Given the description of an element on the screen output the (x, y) to click on. 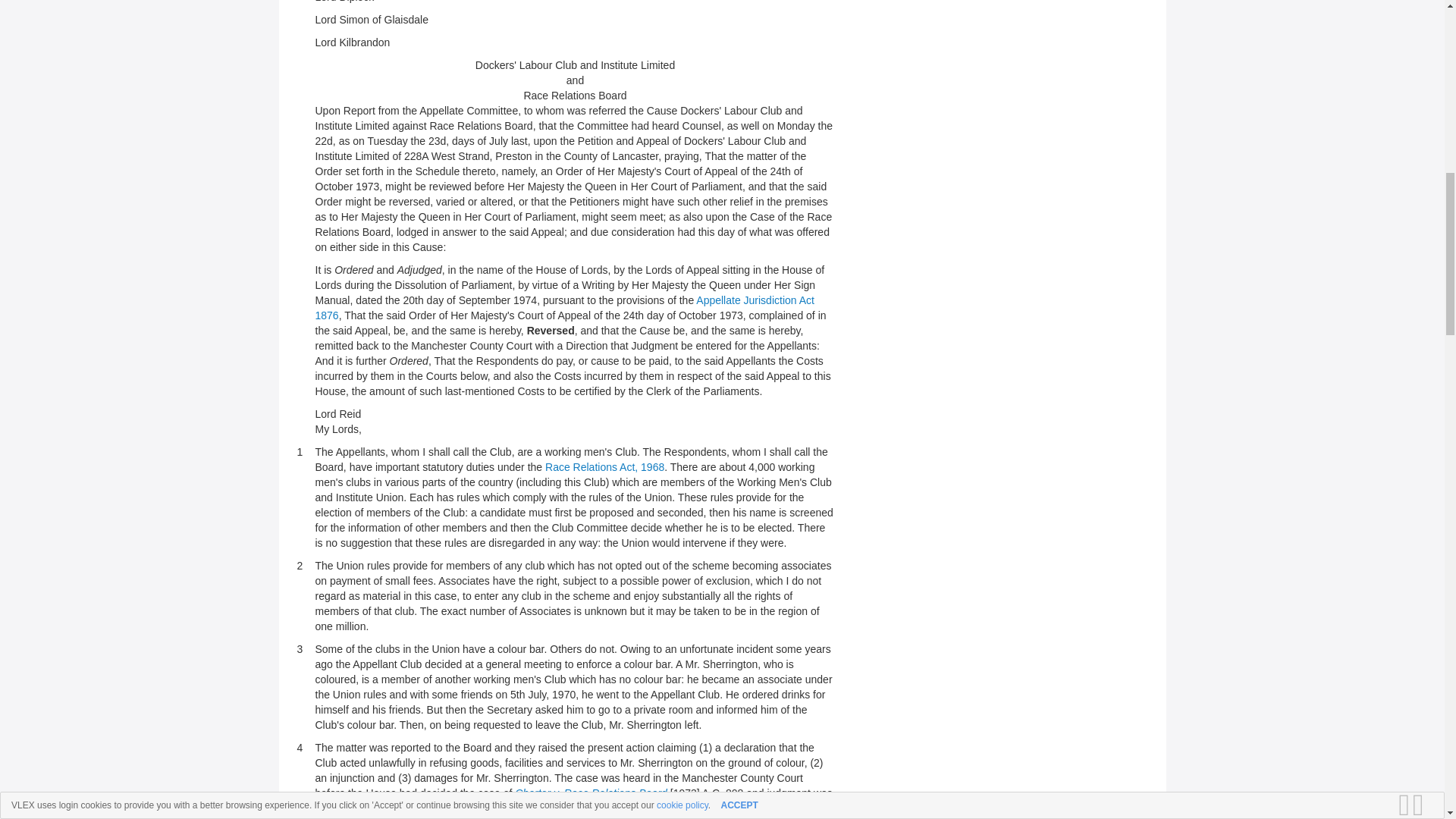
Race Relations Act, 1968 (603, 467)
Appellate Jurisdiction Act 1876 (564, 307)
Charter v. Race Relations Board (590, 793)
